Given the description of an element on the screen output the (x, y) to click on. 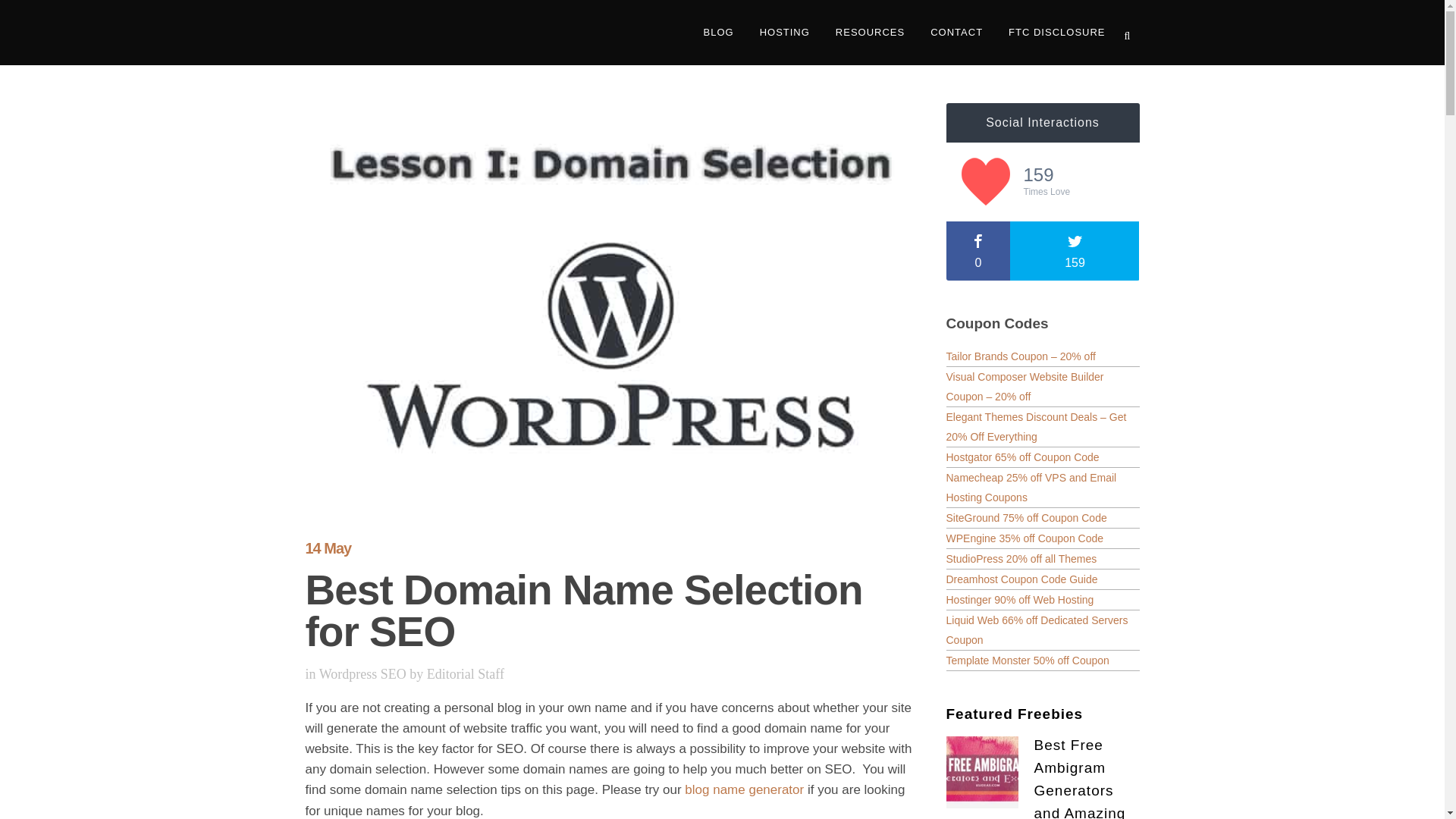
FTC DISCLOSURE (1056, 32)
CONTACT (956, 32)
HOSTING (784, 32)
RESOURCES (869, 32)
